Given the description of an element on the screen output the (x, y) to click on. 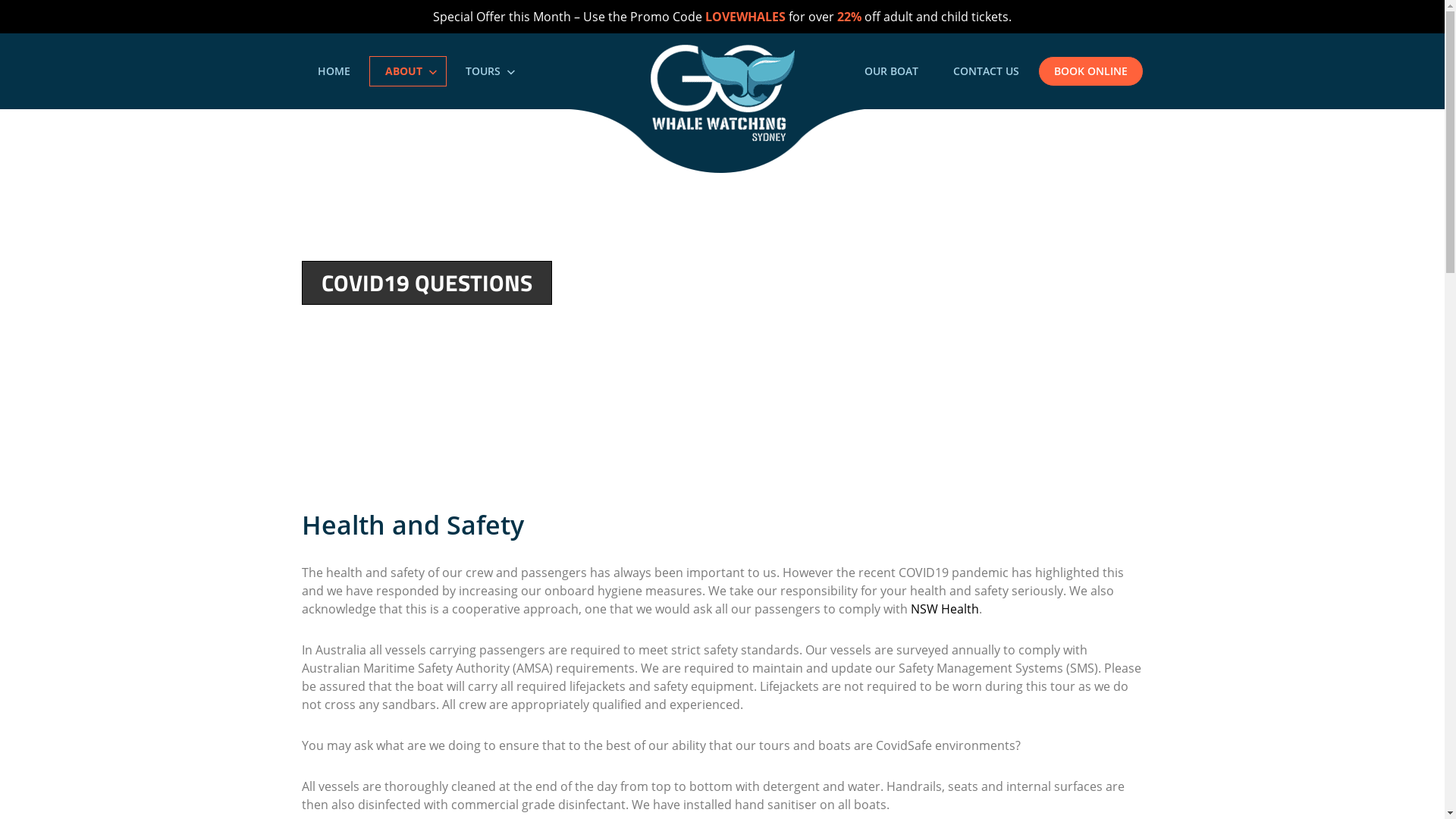
TOURS Element type: text (487, 71)
ABOUT Element type: text (407, 71)
OUR BOAT Element type: text (890, 71)
HOME Element type: text (333, 71)
BOOK ONLINE Element type: text (1089, 71)
CONTACT US Element type: text (986, 71)
NSW Health Element type: text (944, 608)
